Given the description of an element on the screen output the (x, y) to click on. 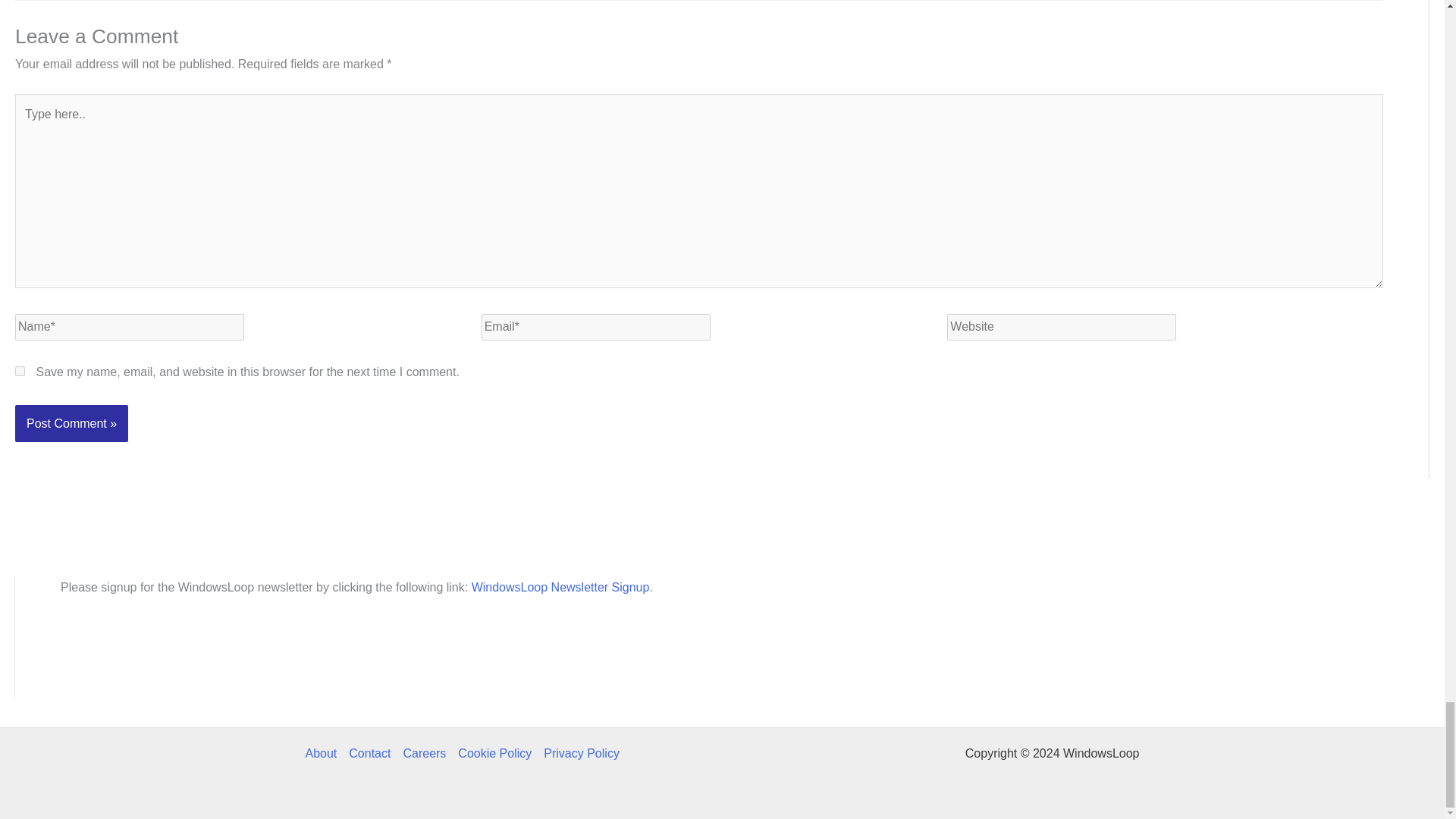
WindowsLoop Newsletter Signup (560, 586)
About (323, 753)
Careers (423, 753)
Privacy Policy (578, 753)
yes (19, 370)
Cookie Policy (494, 753)
Contact (369, 753)
